Given the description of an element on the screen output the (x, y) to click on. 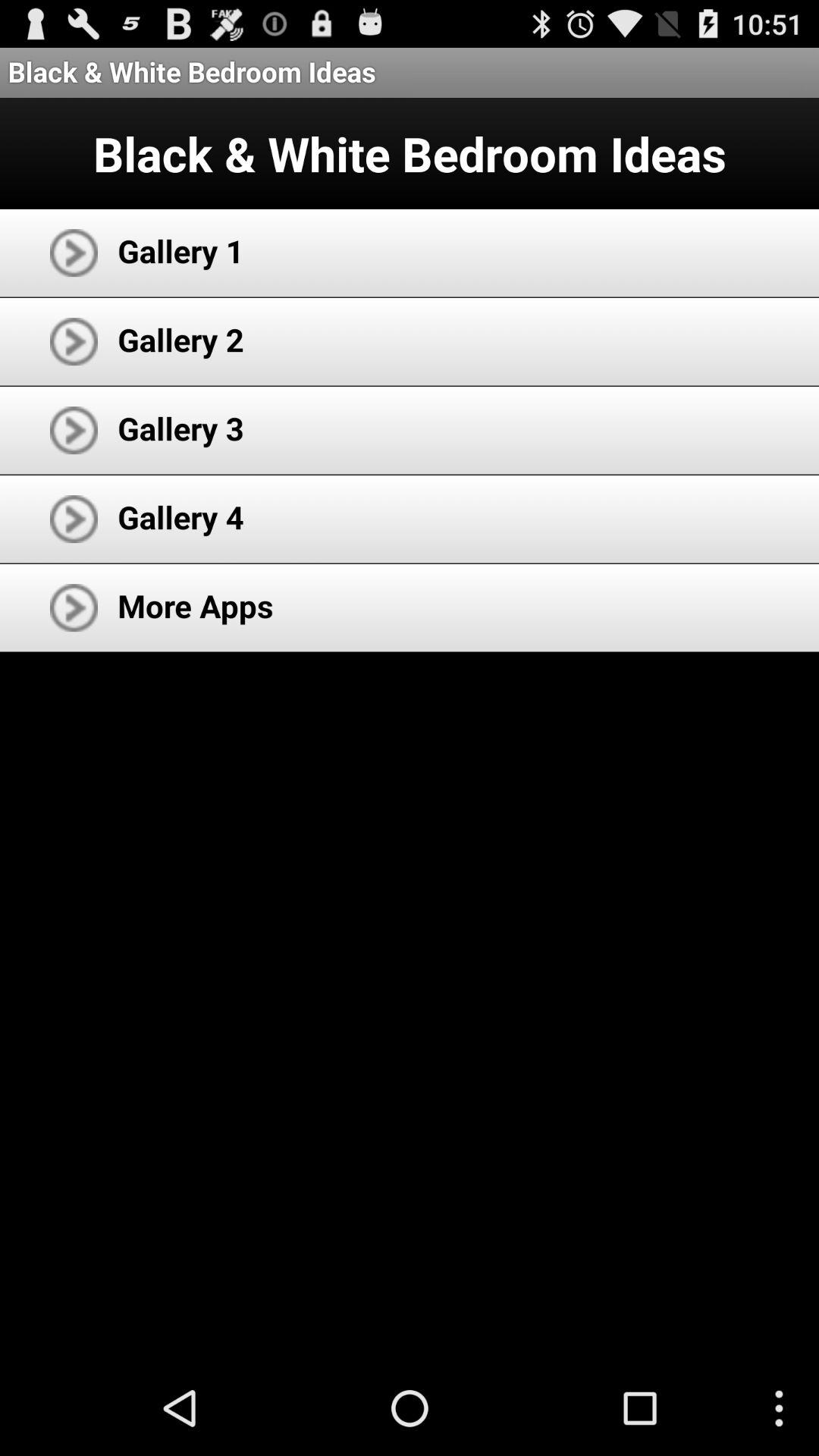
tap icon above gallery 4 item (180, 427)
